Given the description of an element on the screen output the (x, y) to click on. 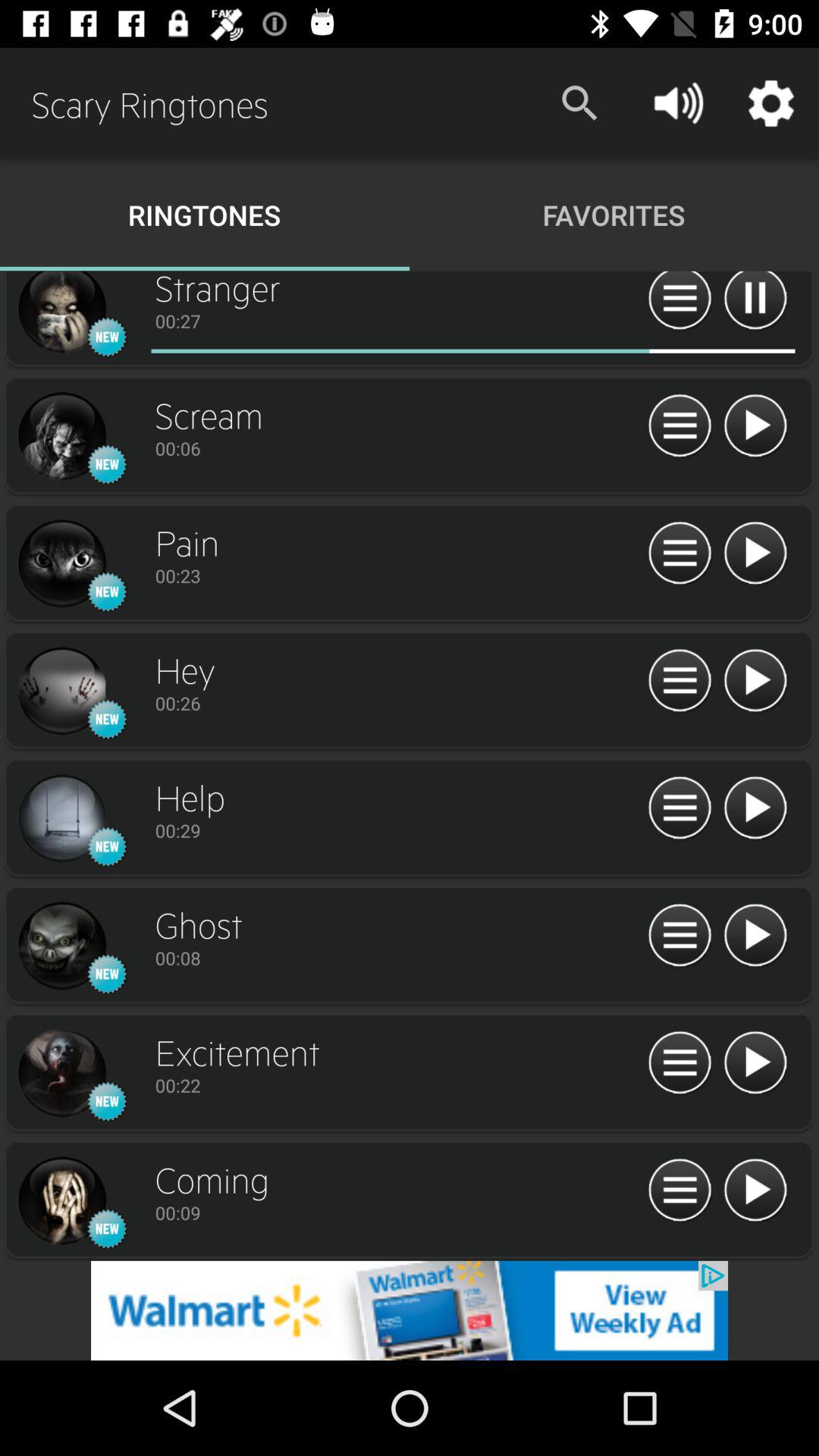
profile details (61, 818)
